Given the description of an element on the screen output the (x, y) to click on. 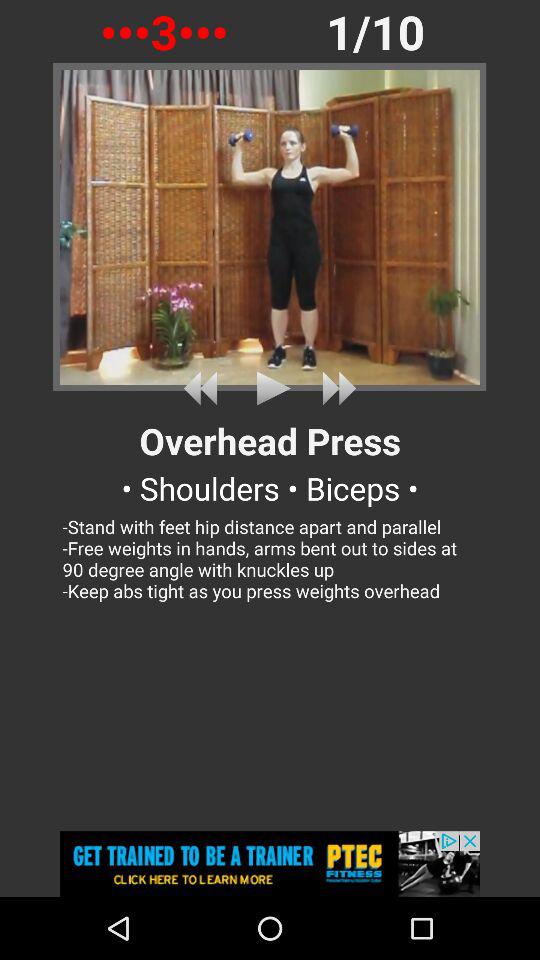
click the play option (269, 388)
